Given the description of an element on the screen output the (x, y) to click on. 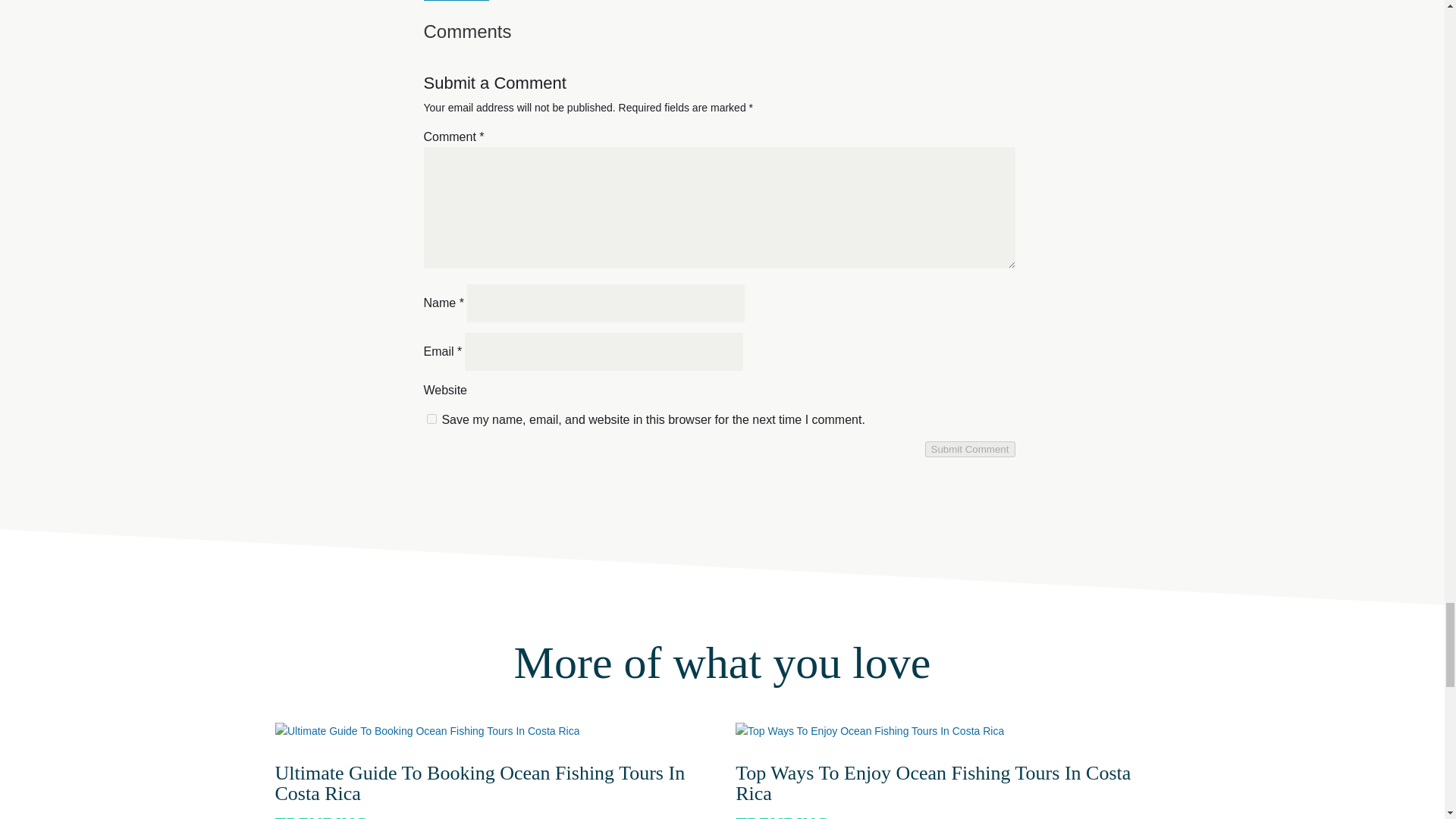
yes (430, 419)
TRENDING (781, 816)
Submit Comment (969, 449)
Top Ways To Enjoy Ocean Fishing Tours In Costa Rica (933, 783)
TRENDING (321, 816)
Ultimate Guide To Booking Ocean Fishing Tours In Costa Rica (479, 783)
